Given the description of an element on the screen output the (x, y) to click on. 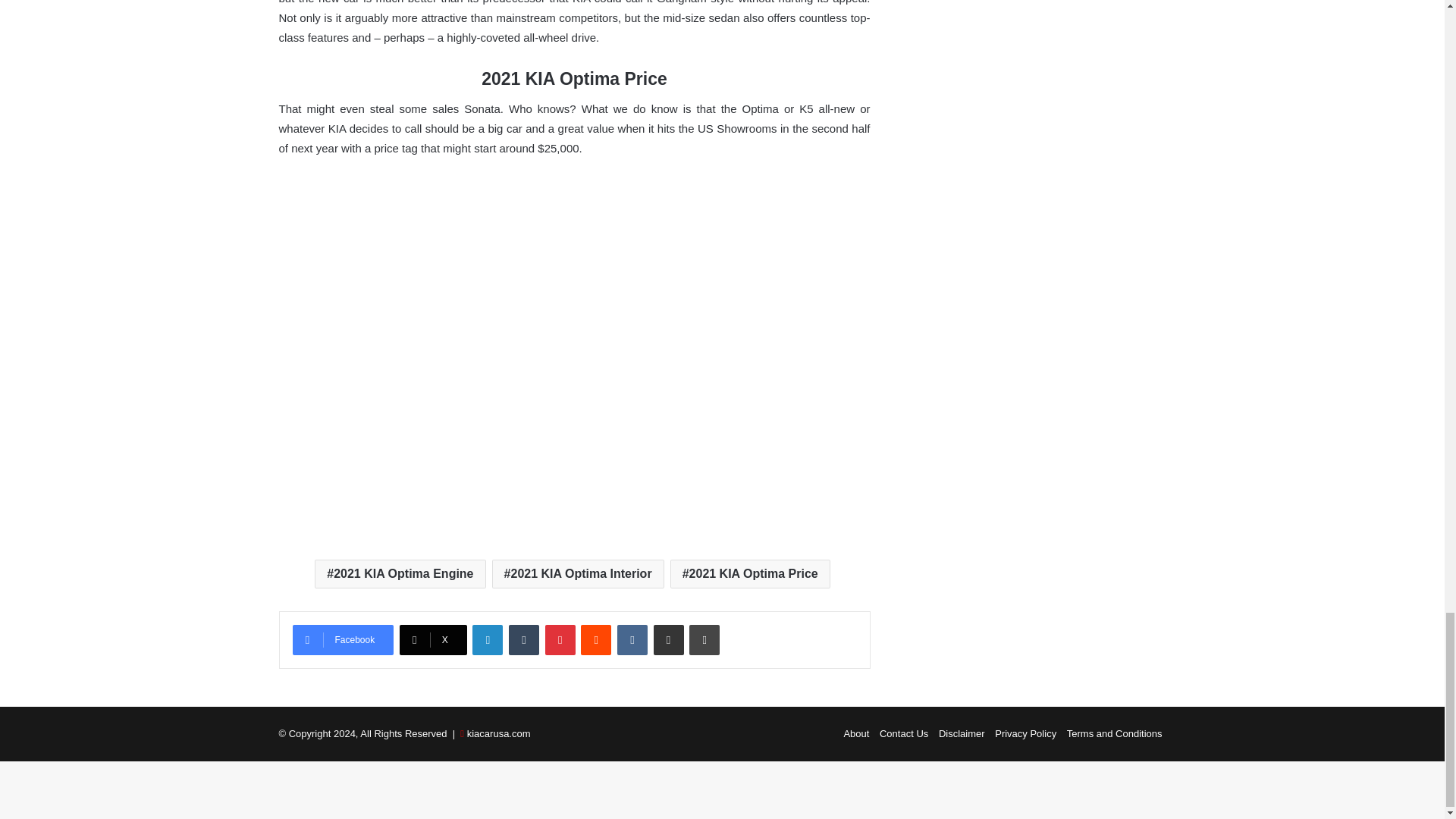
Share via Email (668, 639)
Facebook (343, 639)
VKontakte (632, 639)
LinkedIn (486, 639)
Print (703, 639)
Facebook (343, 639)
Share via Email (668, 639)
X (432, 639)
2021 KIA Optima Price (749, 573)
Tumblr (523, 639)
X (432, 639)
Print (703, 639)
Reddit (595, 639)
LinkedIn (486, 639)
2021 KIA Optima Interior (577, 573)
